Given the description of an element on the screen output the (x, y) to click on. 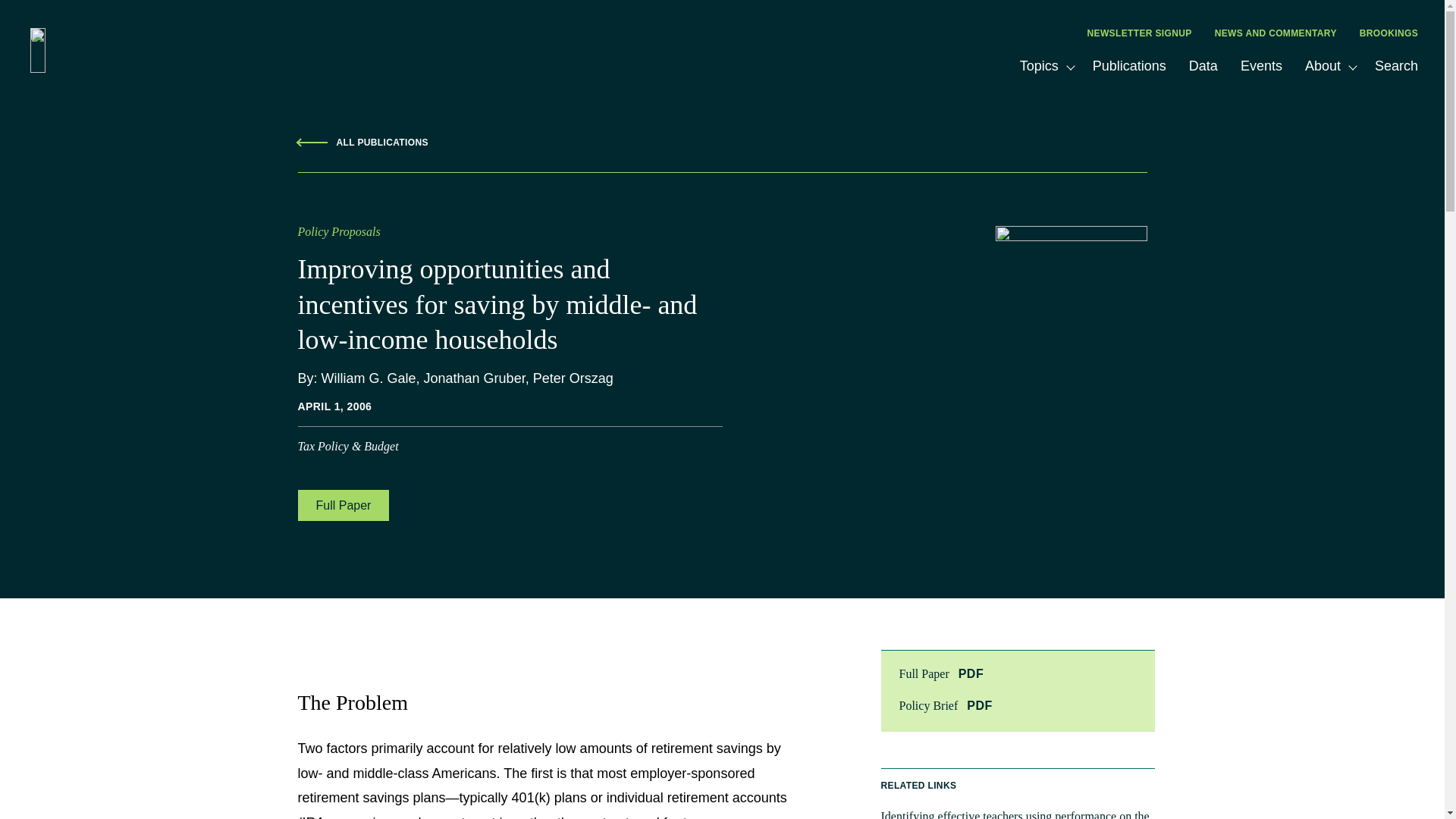
Jonathan Gruber (474, 378)
Full PaperPDF (1018, 673)
Search (1395, 65)
BROOKINGS (1388, 32)
Topics (1041, 65)
Peter Orszag (572, 378)
NEWS AND COMMENTARY (1276, 32)
NEWSLETTER SIGNUP (1139, 32)
Full Paper (342, 504)
William G. Gale (368, 378)
